Given the description of an element on the screen output the (x, y) to click on. 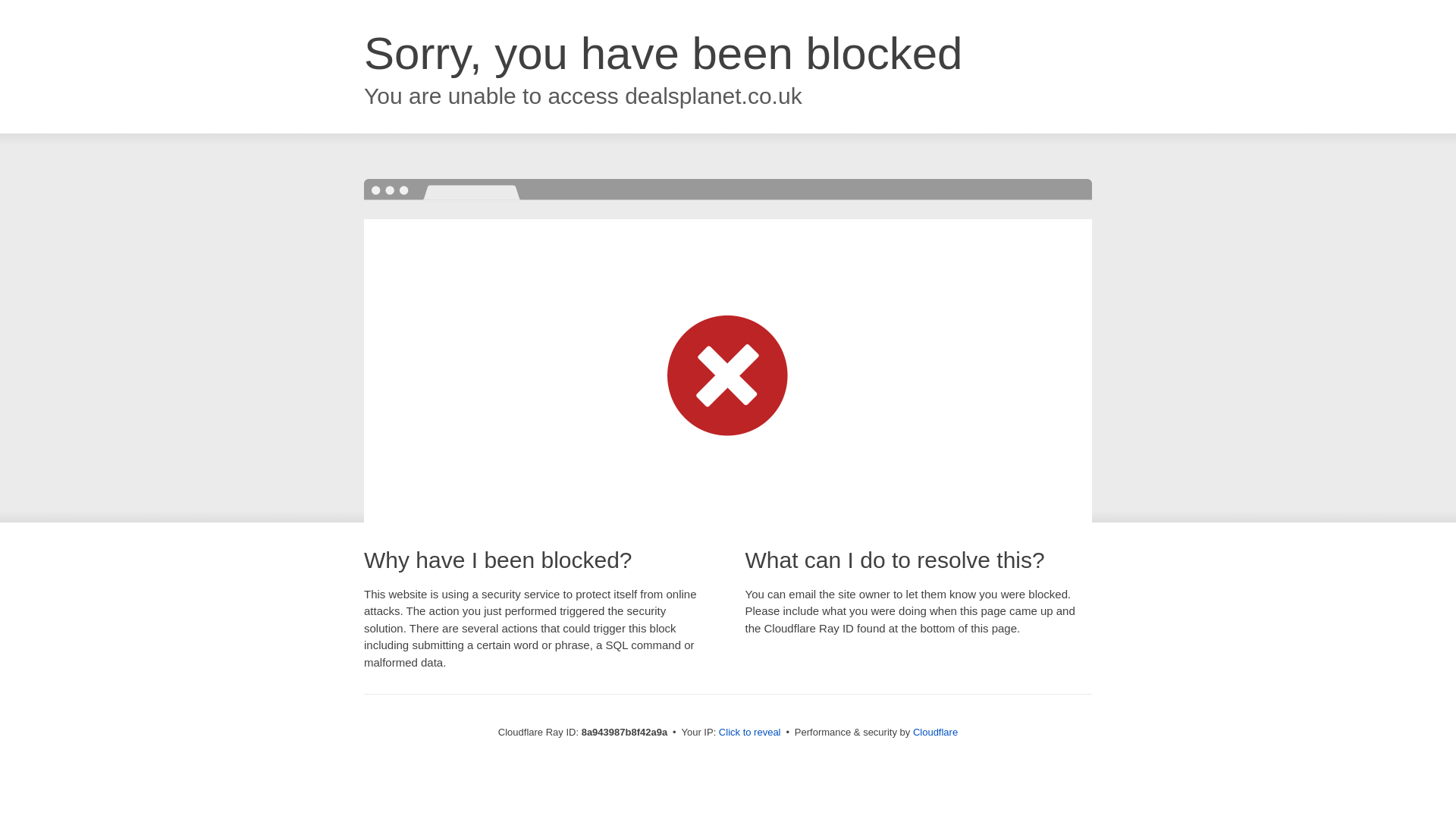
Click to reveal (749, 732)
Cloudflare (935, 731)
